Given the description of an element on the screen output the (x, y) to click on. 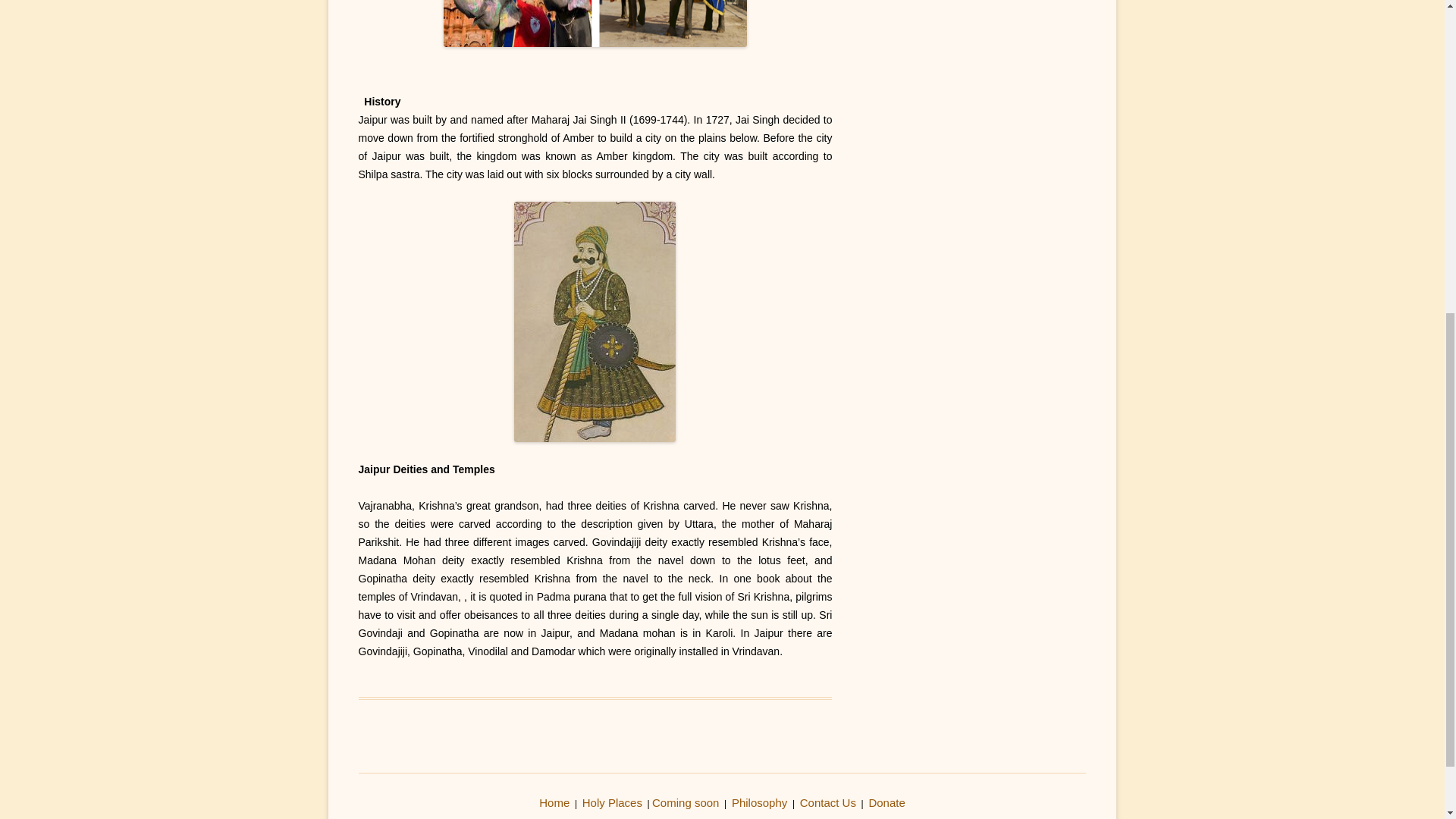
Contact Us (827, 802)
Donate (885, 802)
Coming soon (685, 802)
Donate (885, 802)
Holy Places (612, 802)
Philosophy (759, 802)
Home (553, 802)
